Given the description of an element on the screen output the (x, y) to click on. 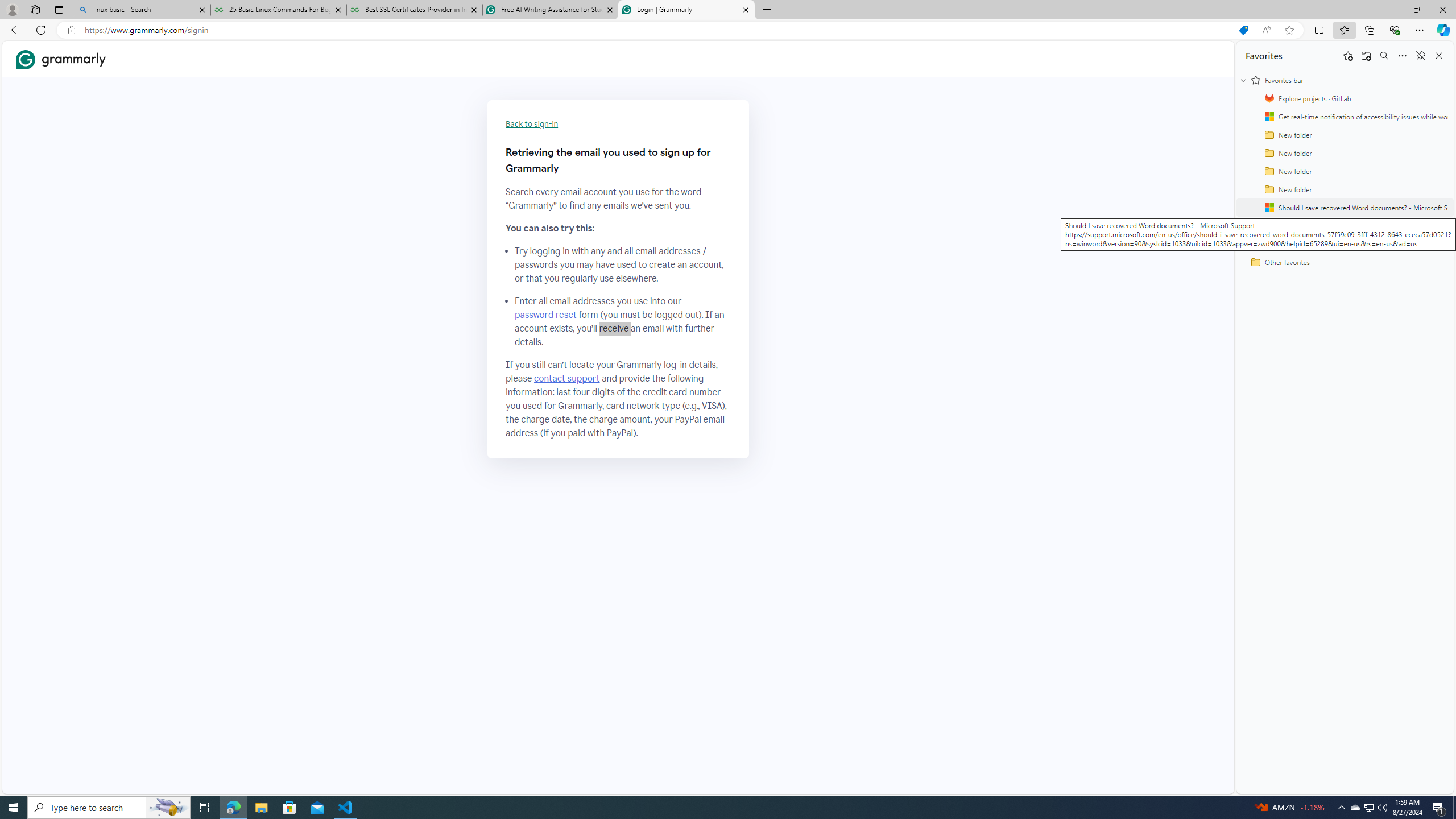
Add folder (1366, 55)
Add this page to favorites (1347, 55)
Search favorites (1383, 55)
password reset (545, 314)
contact support (566, 378)
